Given the description of an element on the screen output the (x, y) to click on. 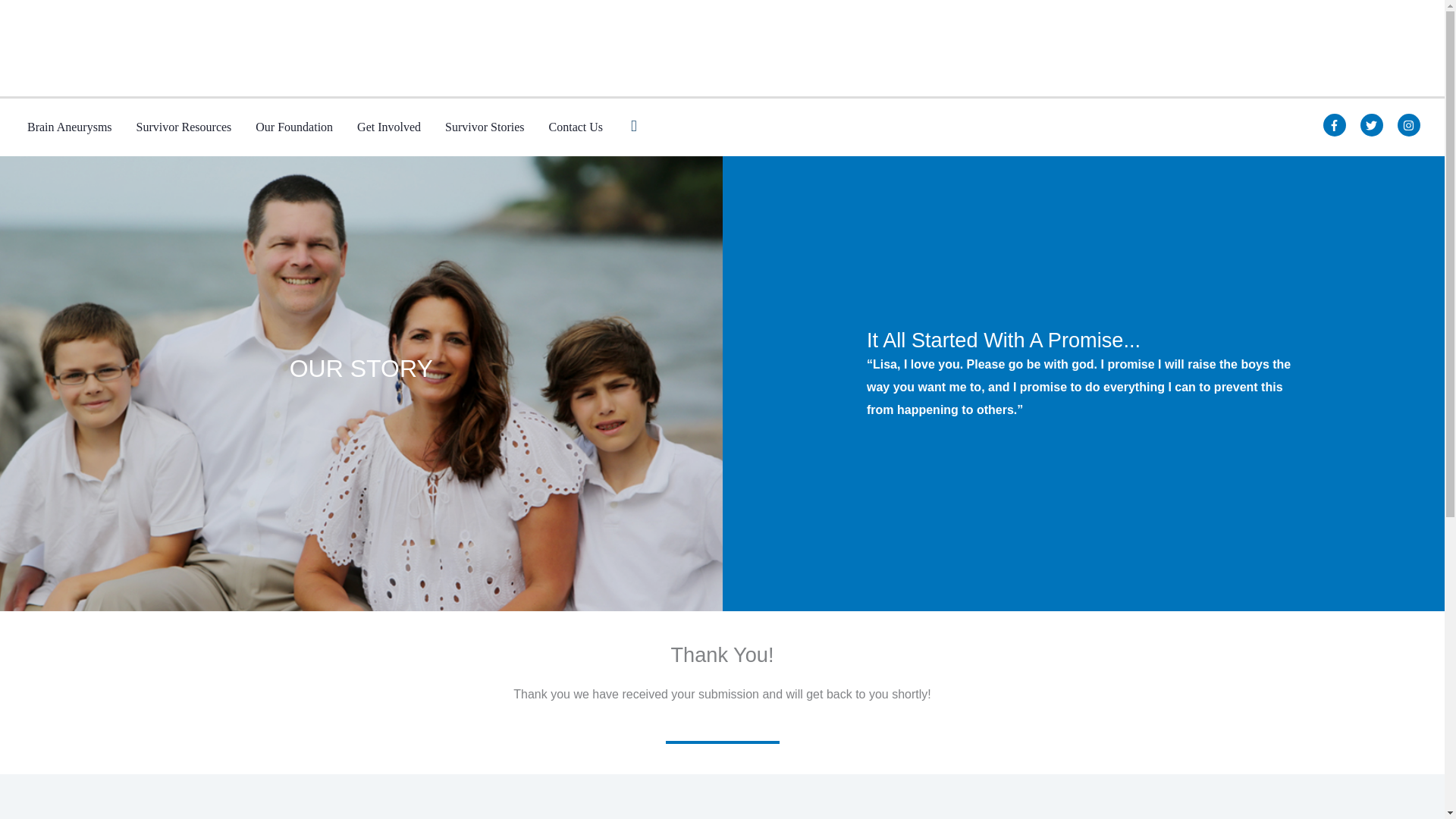
Our Foundation (294, 126)
Contact Us (576, 126)
Get Involved (388, 126)
Search (633, 126)
Brain Aneurysms (68, 126)
Survivor Resources (183, 126)
Survivor Stories (483, 126)
